Given the description of an element on the screen output the (x, y) to click on. 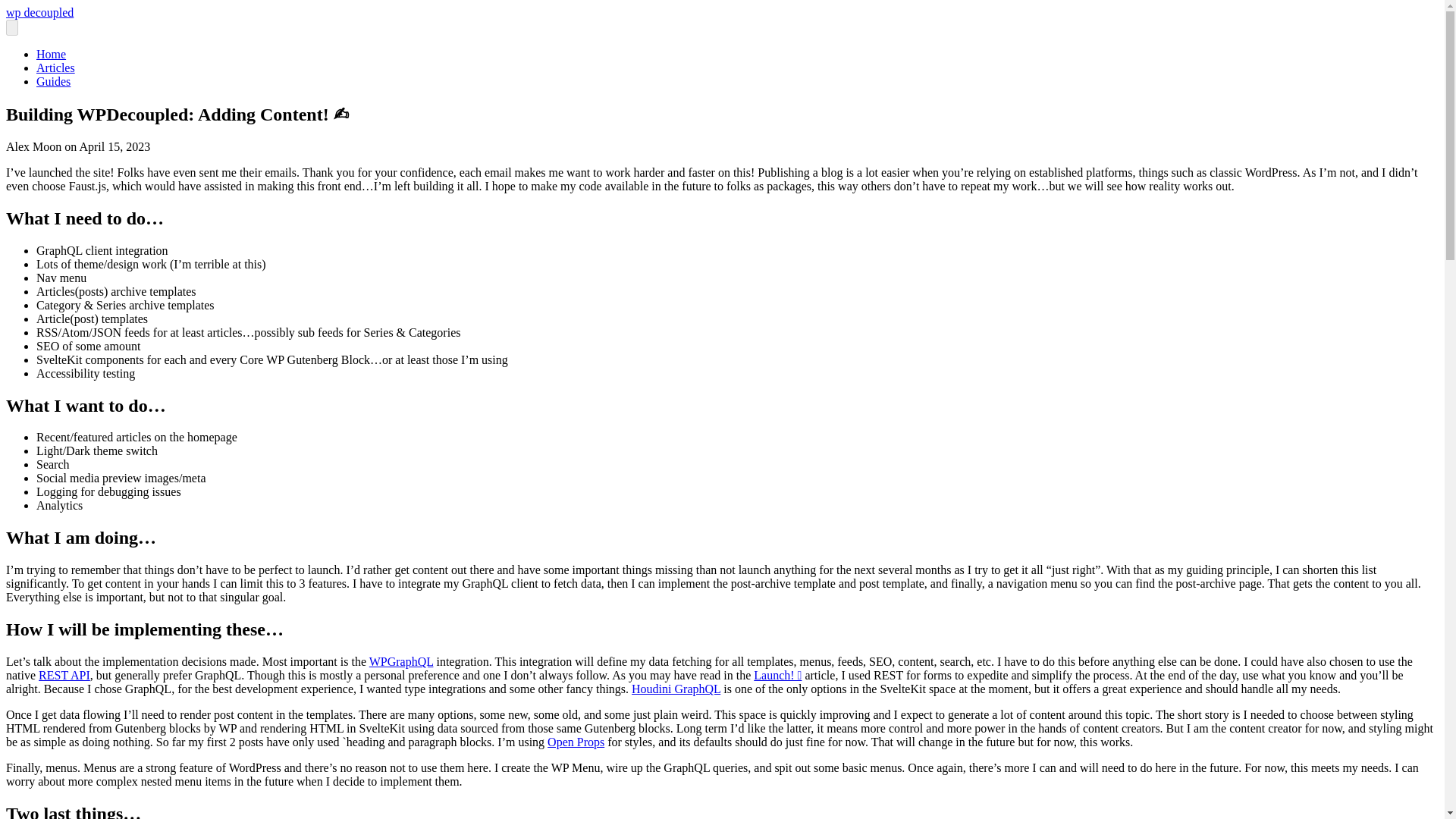
Open Props (575, 741)
wp decoupled (39, 11)
REST API (64, 675)
Guides (52, 81)
WPGraphQL (401, 661)
Houdini GraphQL (675, 688)
Home (50, 53)
Articles (55, 67)
